Given the description of an element on the screen output the (x, y) to click on. 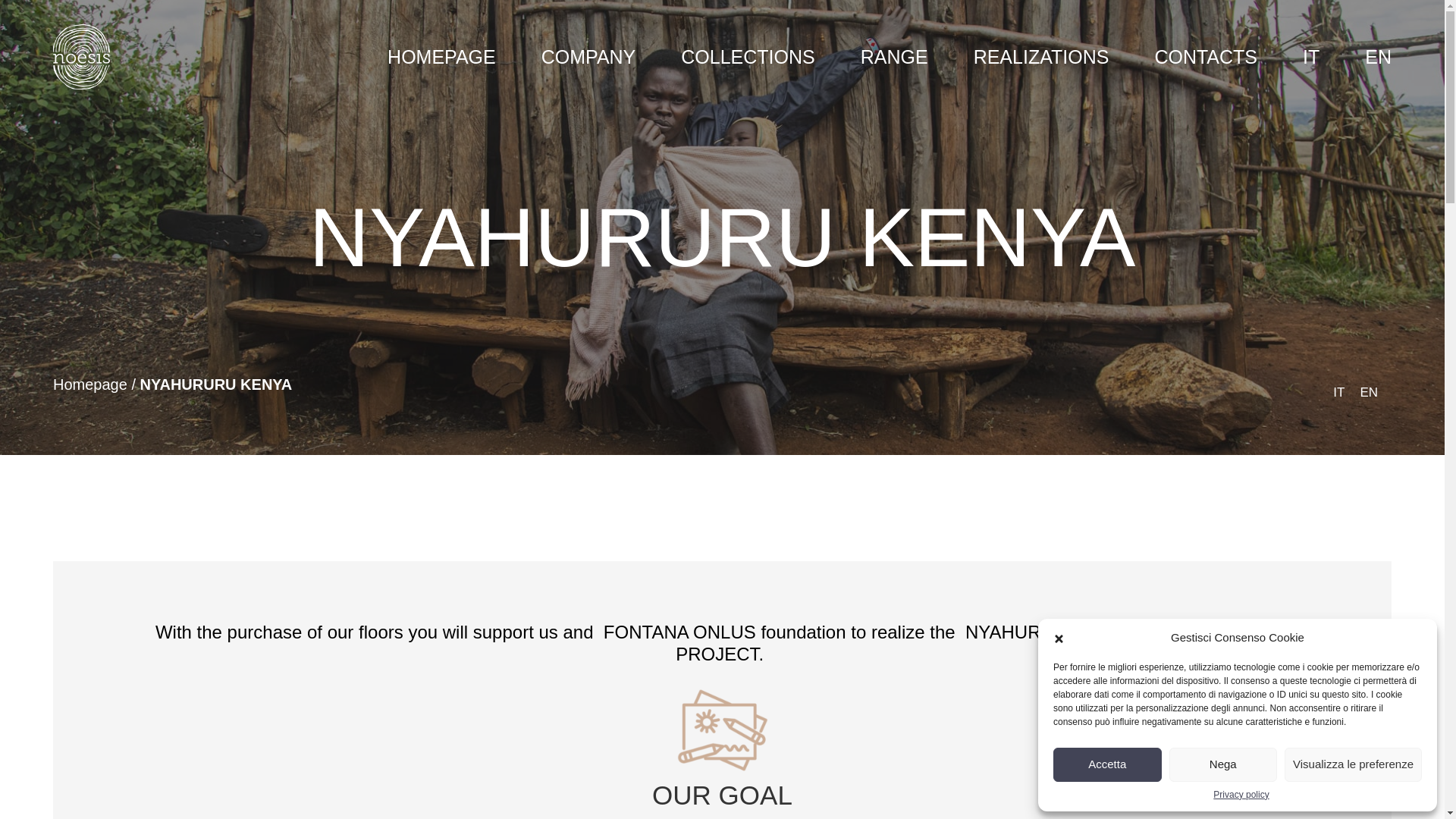
HOMEPAGE (441, 56)
COMPANY (588, 56)
EN (1378, 56)
Visualizza le preferenze (1353, 764)
Accetta (1106, 764)
COLLECTIONS (747, 56)
CONTACTS (1205, 56)
Privacy policy (1240, 794)
RANGE (894, 56)
REALIZATIONS (1041, 56)
Nega (1223, 764)
